Given the description of an element on the screen output the (x, y) to click on. 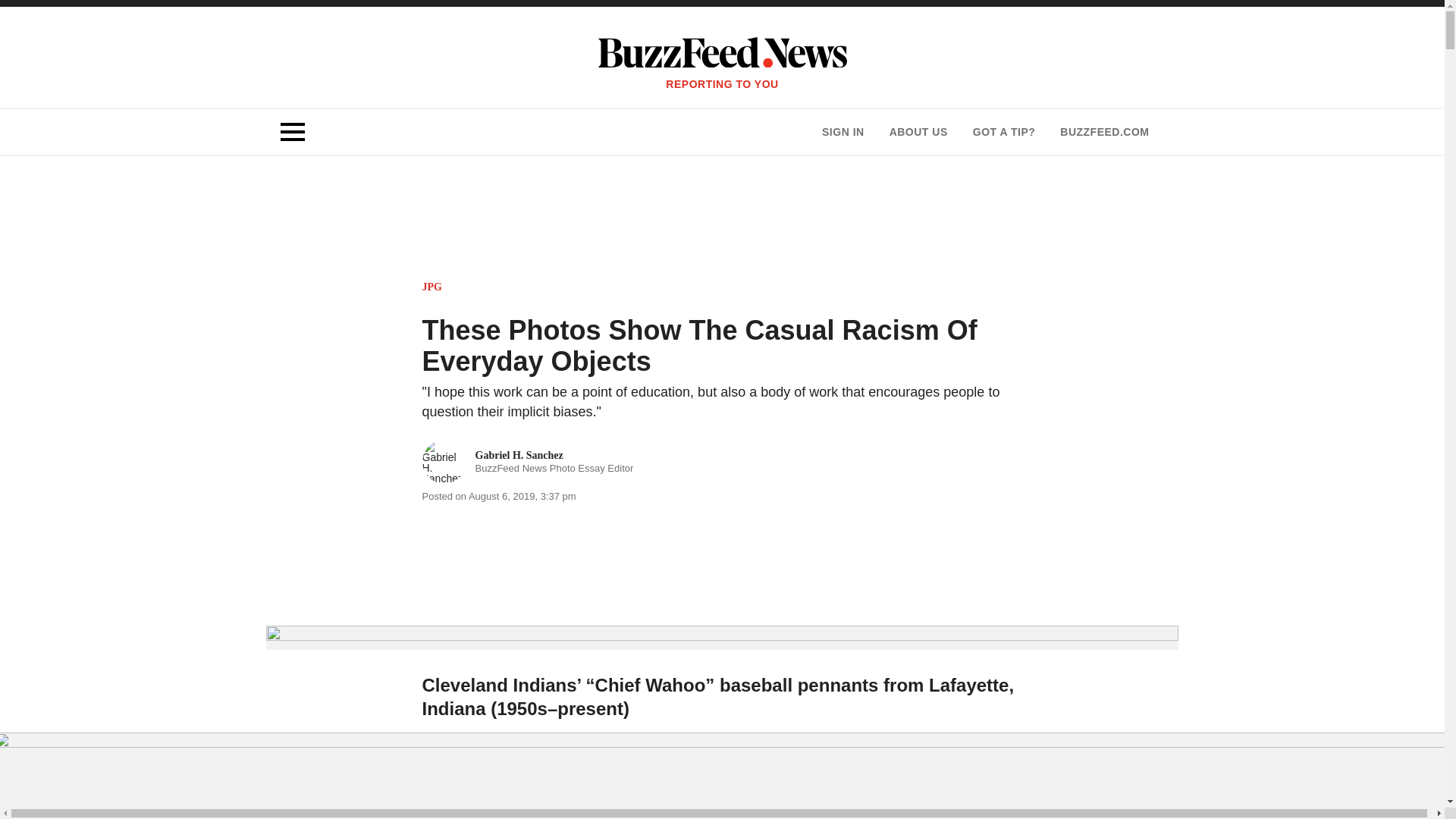
SIGN IN (842, 131)
BUZZFEED.COM (1103, 131)
GOT A TIP? (1003, 131)
JPG (527, 461)
ABOUT US (431, 286)
